Given the description of an element on the screen output the (x, y) to click on. 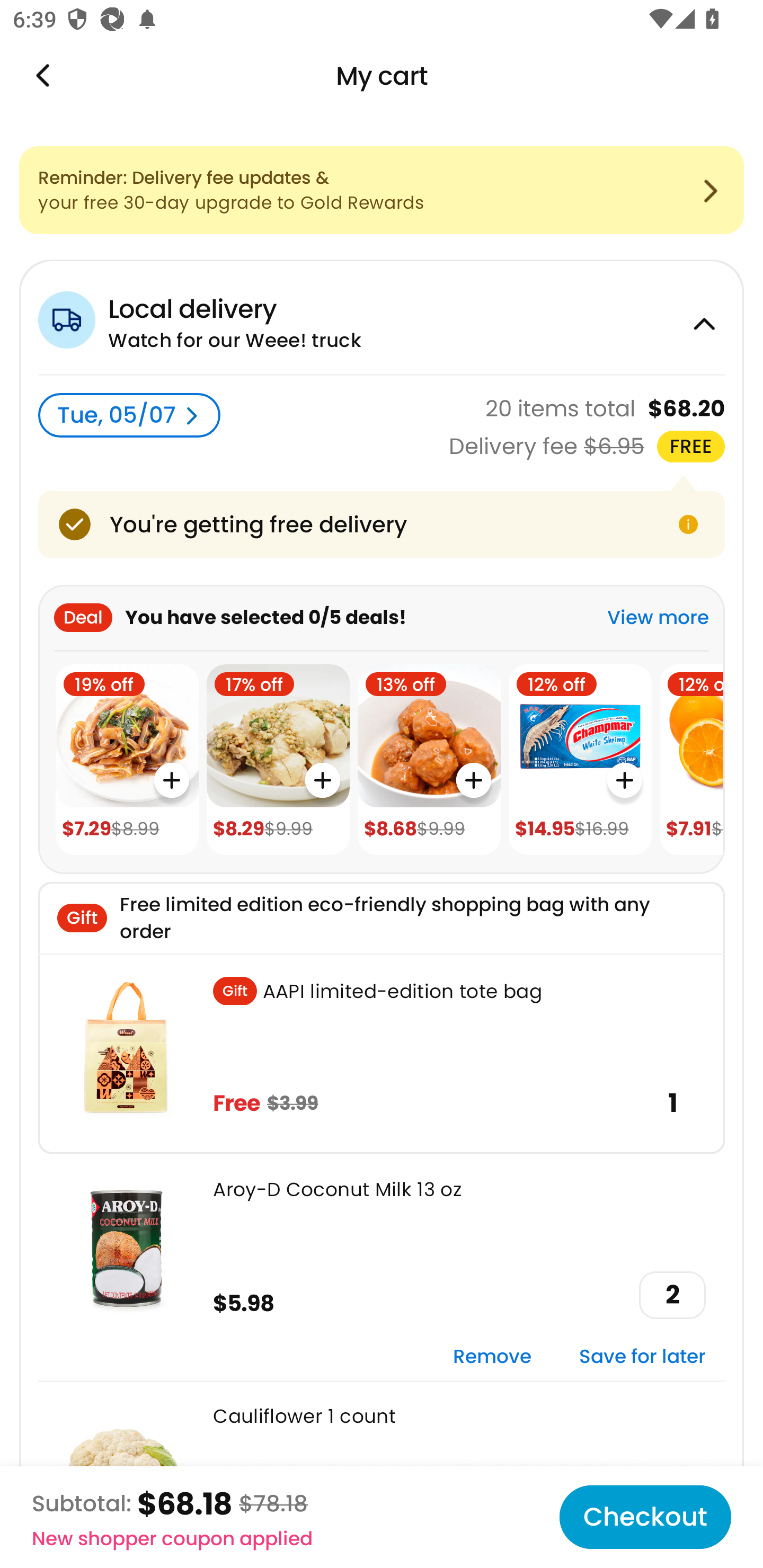
Local delivery Watch for our Weee! truck (381, 317)
Tue, 05/07 (129, 415)
You're getting free delivery (381, 524)
19% off $7.29 $8.99 (126, 759)
17% off $8.29 $9.99 (277, 759)
13% off $8.68 $9.99 (428, 759)
12% off $14.95 $16.99 (579, 759)
. AAPI limited-edition tote bag Free $3.99 1 (381, 1053)
2 (672, 1294)
Remove (491, 1356)
Save for later (642, 1356)
Cauliflower 1 count $3.99 1 Remove Save for later (381, 1473)
Checkout (644, 1516)
